Given the description of an element on the screen output the (x, y) to click on. 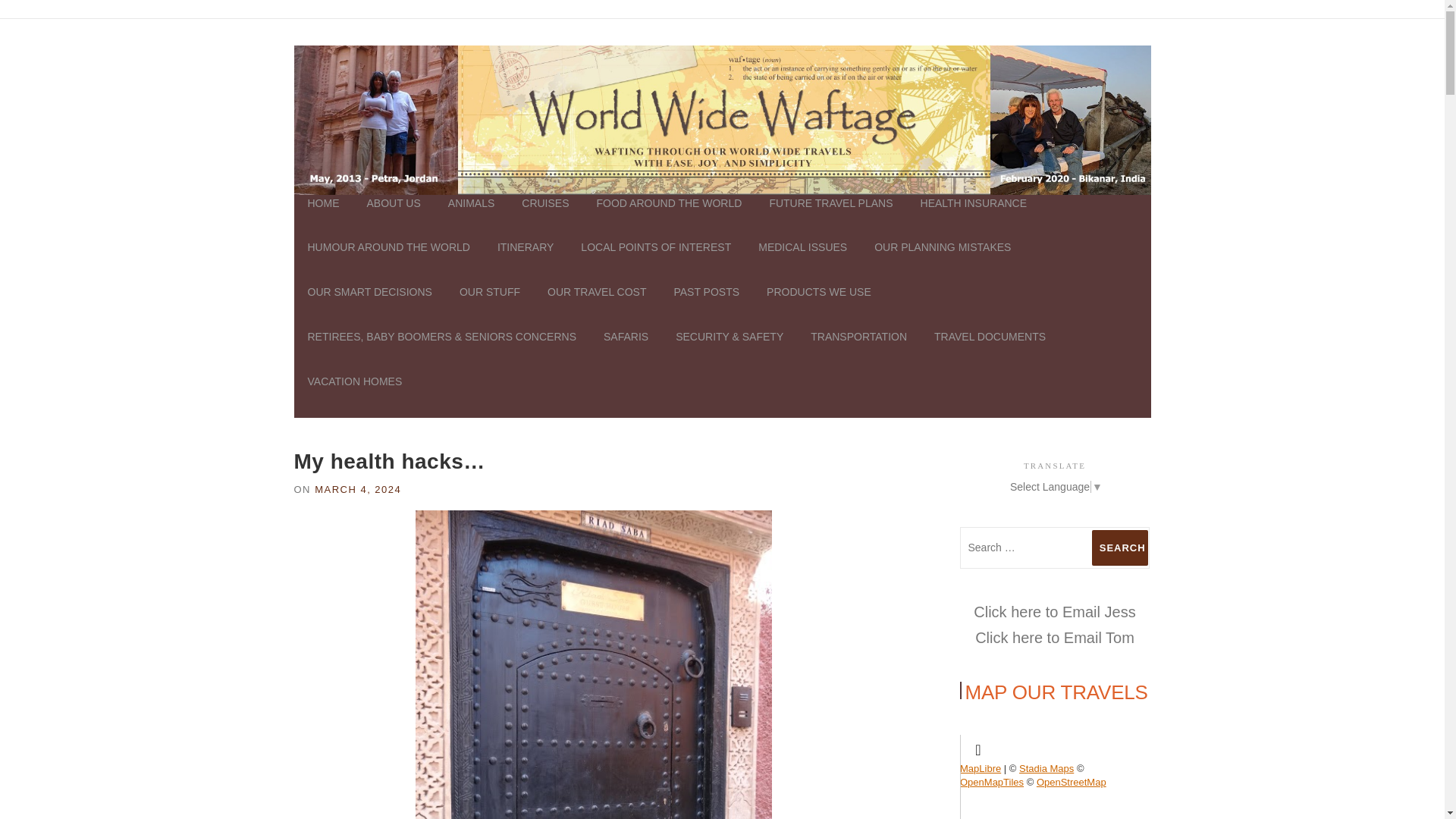
OUR TRAVEL COST (596, 305)
WorldWideWaftage (722, 119)
LOCAL POINTS OF INTEREST (655, 261)
Search (1120, 547)
FOOD AROUND THE WORLD (669, 216)
Search (1120, 547)
TRAVEL DOCUMENTS (989, 350)
ITINERARY (525, 261)
OUR SMART DECISIONS (369, 305)
SAFARIS (625, 350)
Search (1120, 547)
ANIMALS (470, 216)
HEALTH INSURANCE (974, 216)
PAST POSTS (705, 305)
VACATION HOMES (348, 395)
